Given the description of an element on the screen output the (x, y) to click on. 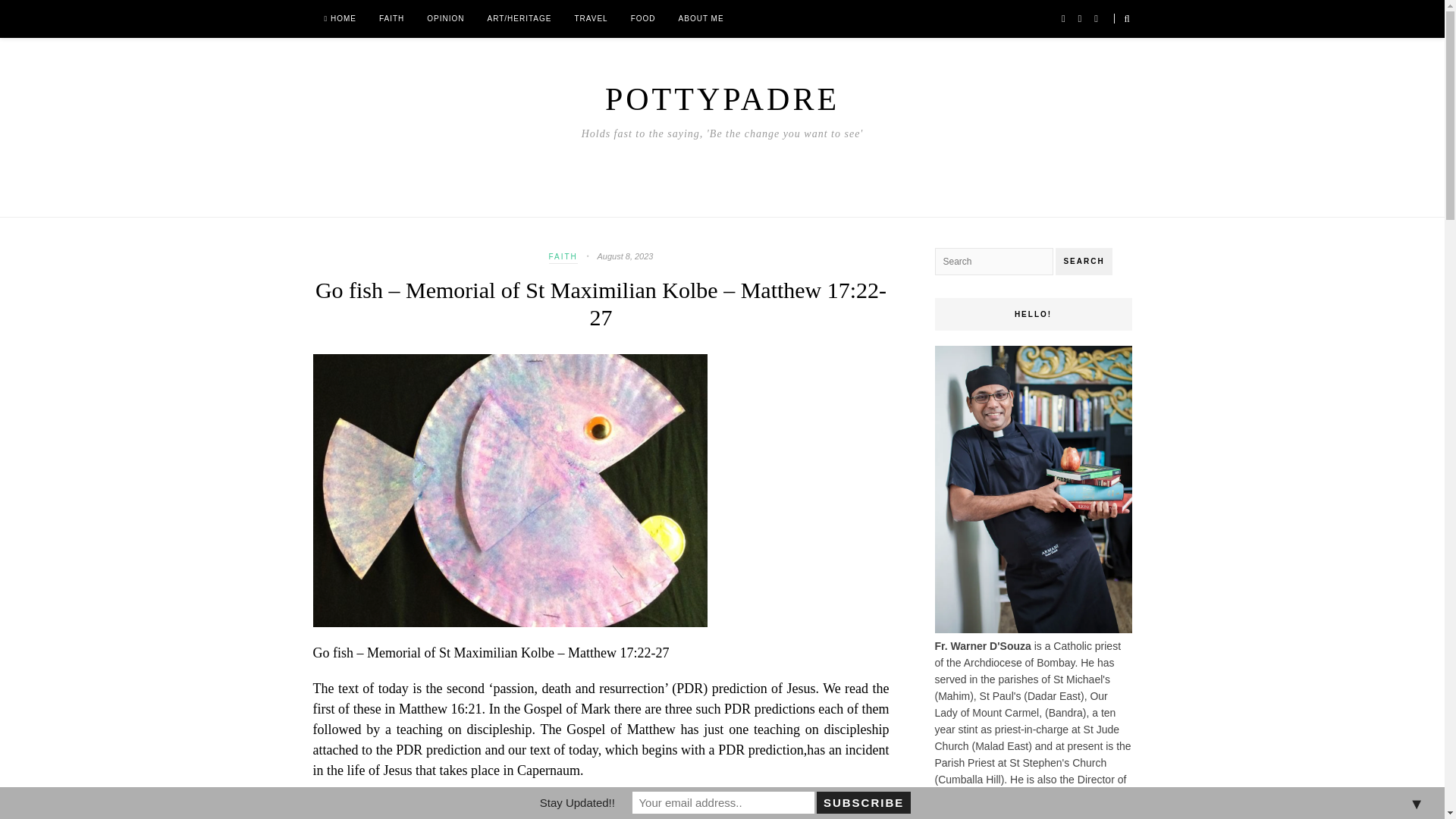
FAITH (563, 257)
TRAVEL (590, 18)
FAITH (391, 18)
OPINION (445, 18)
Subscribe (863, 802)
FOOD (643, 18)
HOME (339, 18)
POTTYPADRE (722, 99)
ABOUT ME (700, 18)
